Given the description of an element on the screen output the (x, y) to click on. 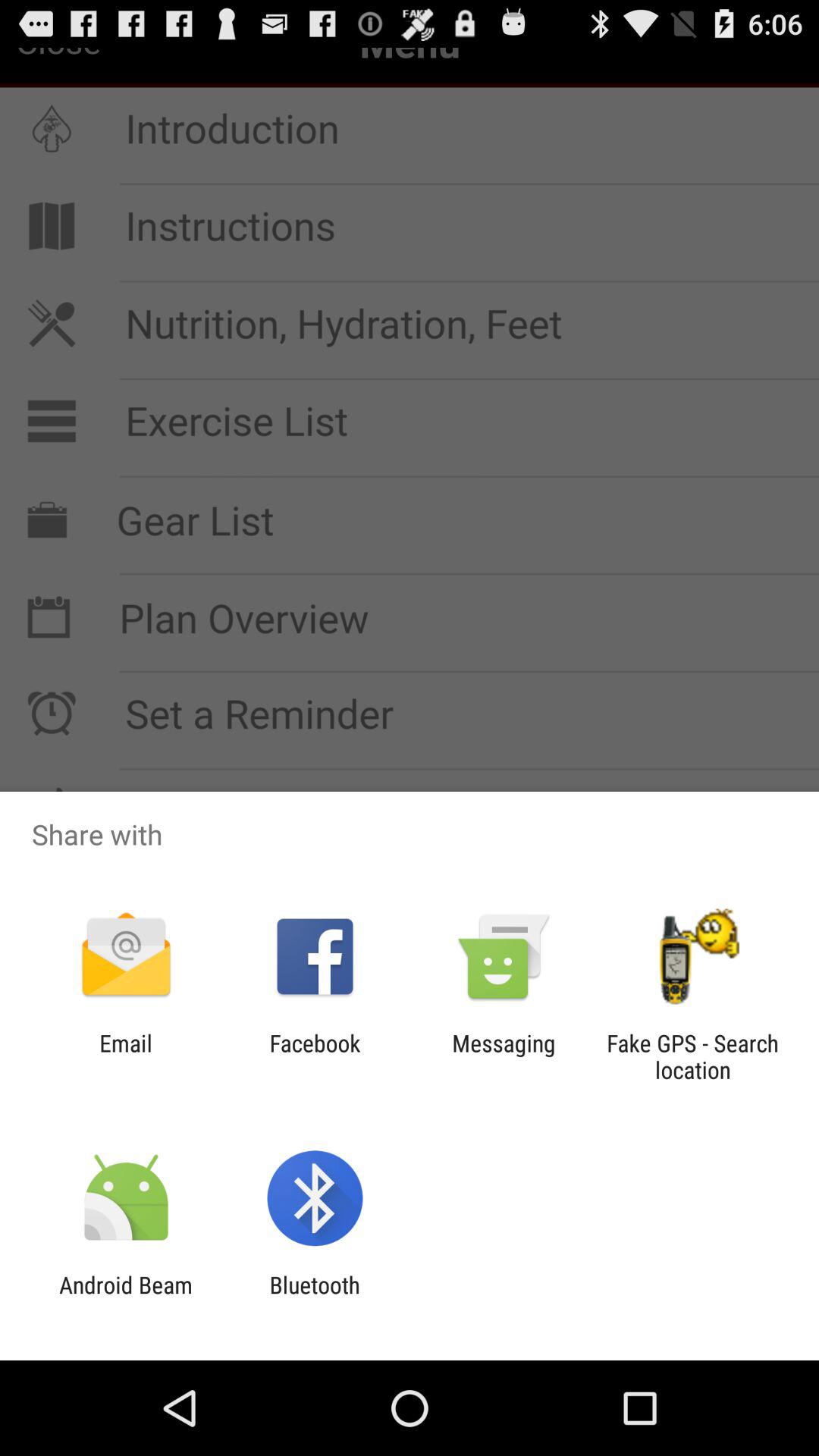
turn on facebook item (314, 1056)
